Given the description of an element on the screen output the (x, y) to click on. 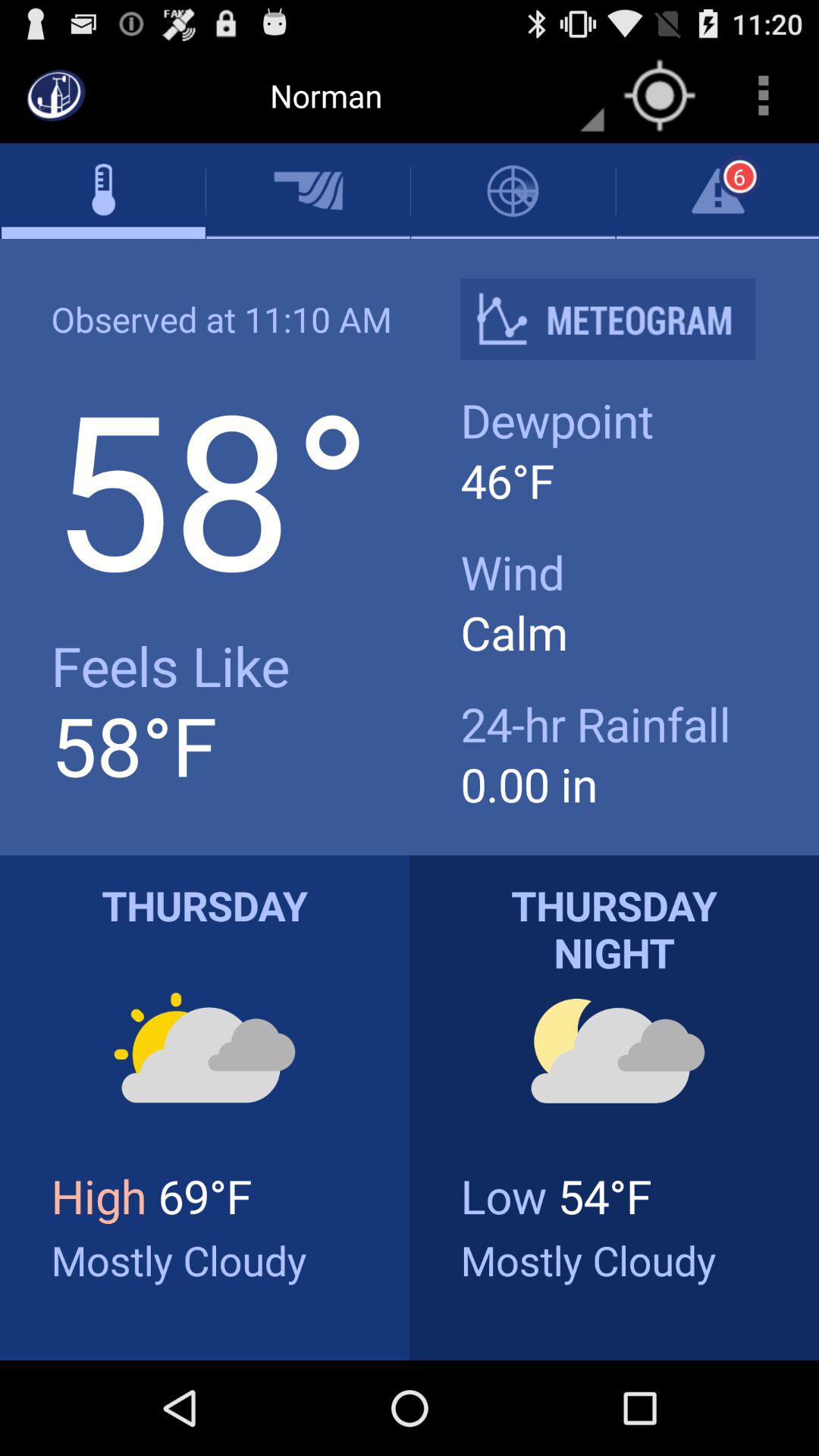
switch location option (659, 95)
